Given the description of an element on the screen output the (x, y) to click on. 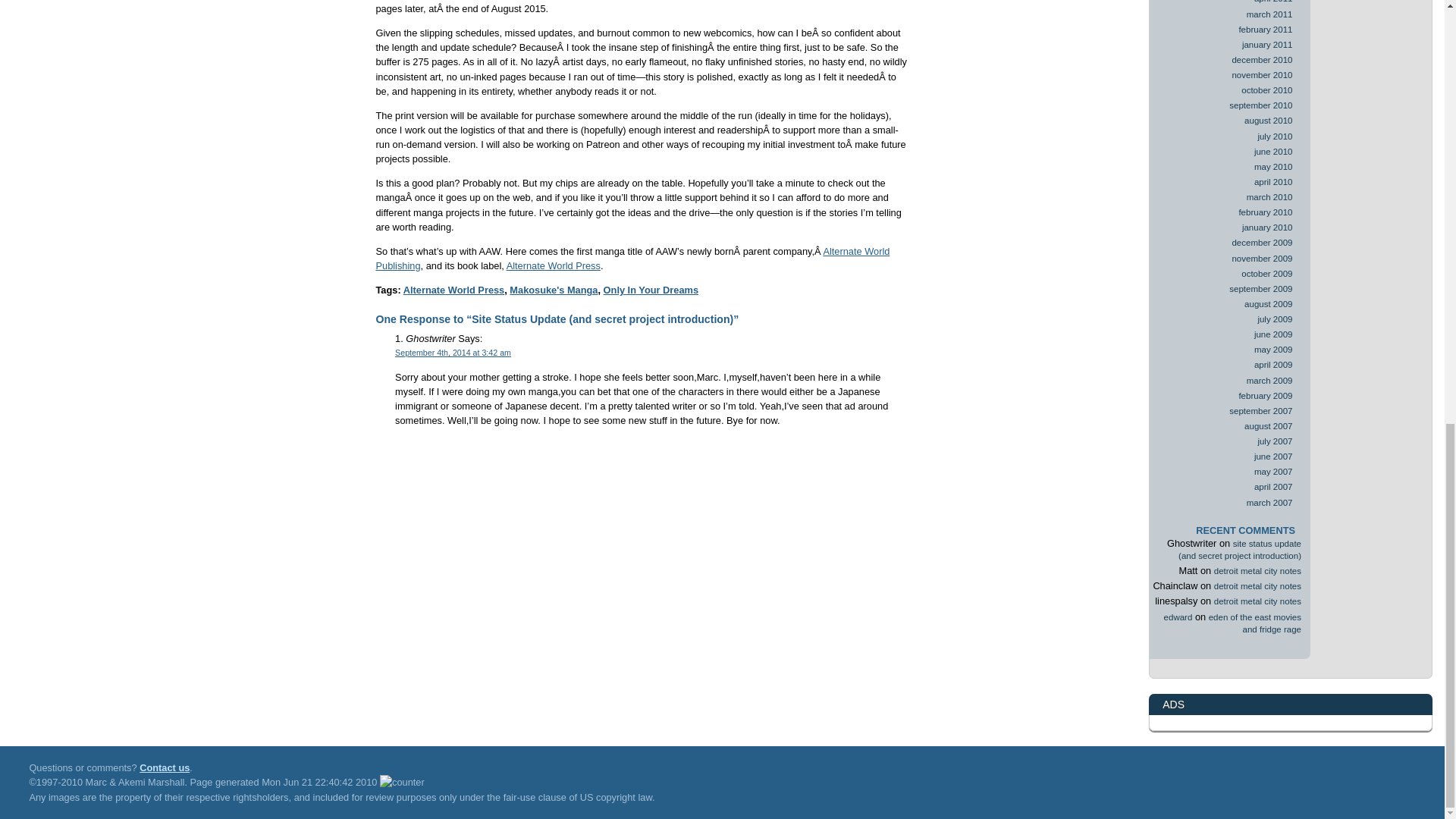
Only In Your Dreams (651, 289)
September 4th, 2014 at 3:42 am (452, 352)
Alternate World Press (453, 289)
Alternate World Publishing (632, 258)
Alternate World Press (552, 265)
Makosuke's Manga (552, 289)
